Given the description of an element on the screen output the (x, y) to click on. 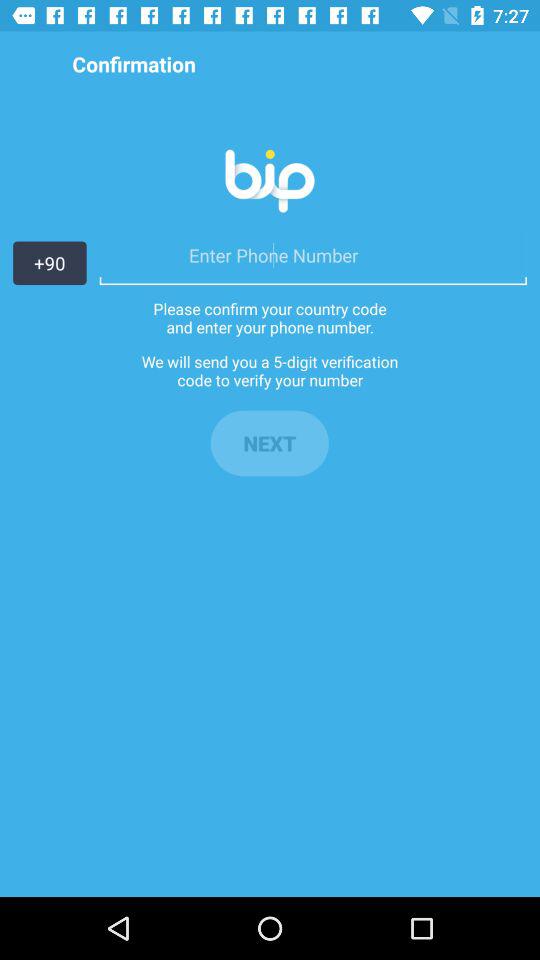
choose the item above the please confirm your (312, 255)
